Given the description of an element on the screen output the (x, y) to click on. 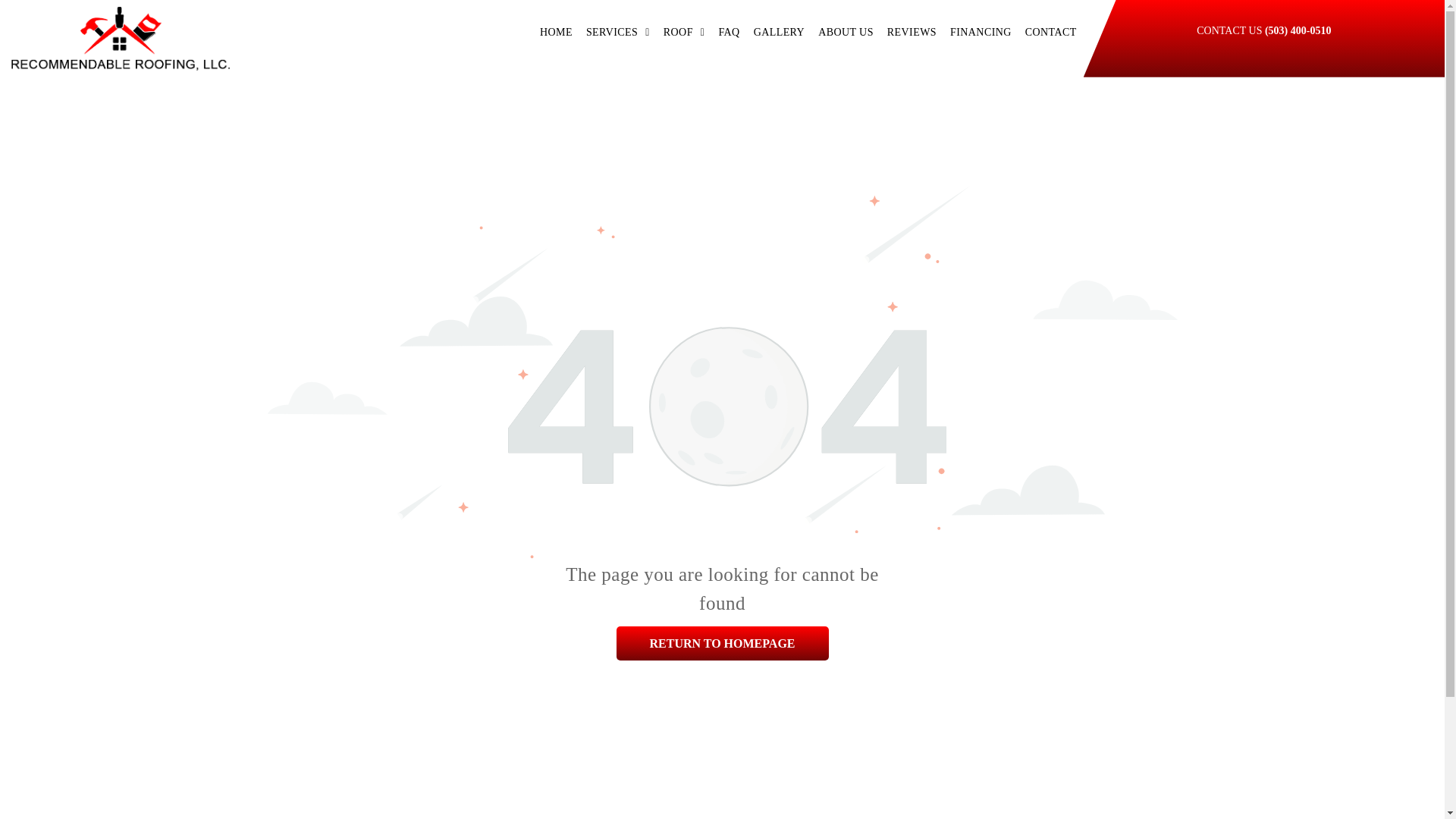
GALLERY (779, 32)
ABOUT US (845, 32)
REVIEWS (911, 32)
SERVICES (617, 32)
HOME (555, 32)
FAQ (728, 32)
Recommendable Roofing, LLC (120, 38)
ROOF (683, 32)
CONTACT (1050, 32)
FINANCING (980, 32)
